Given the description of an element on the screen output the (x, y) to click on. 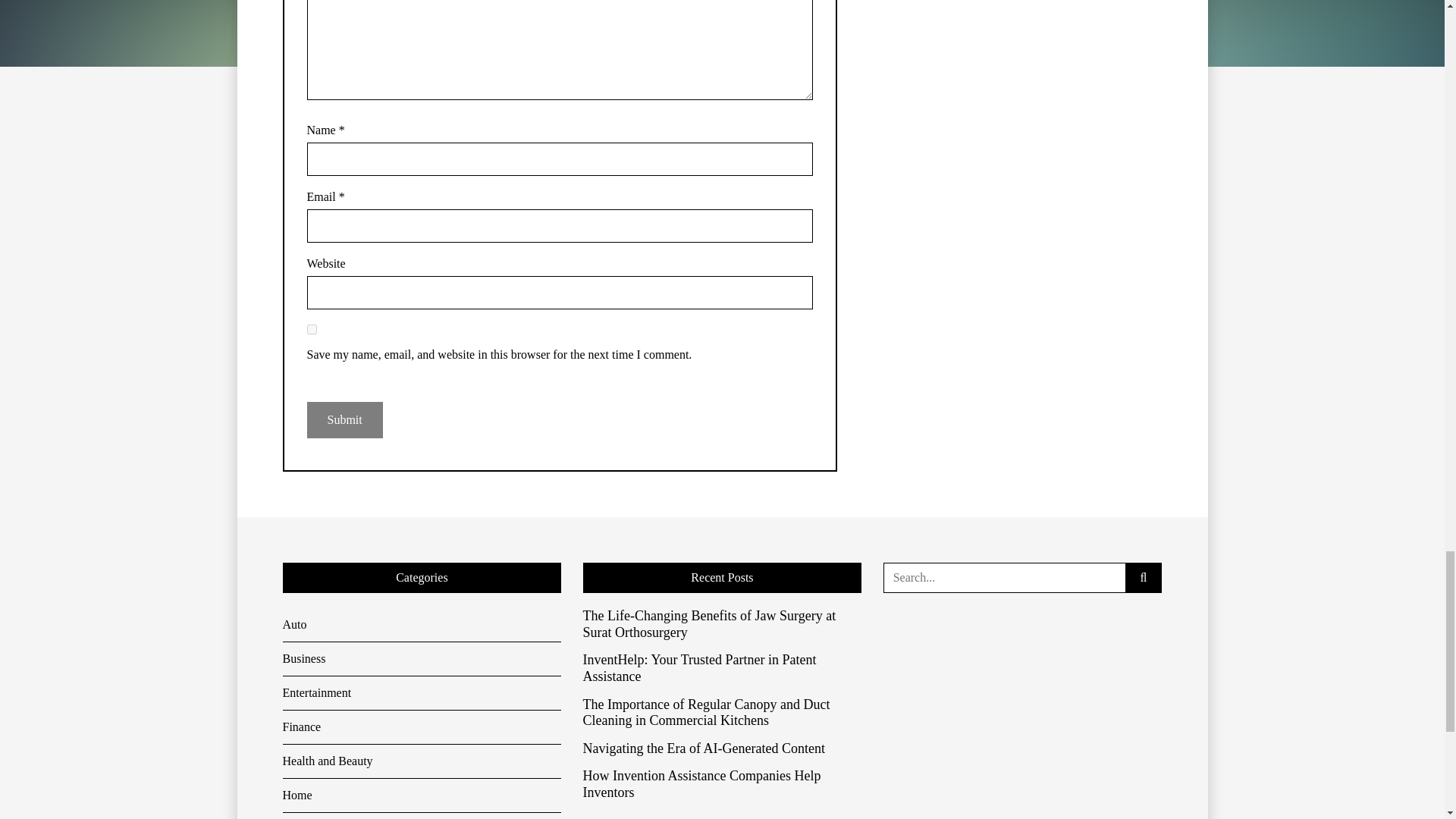
yes (310, 329)
Submit (343, 420)
Submit (343, 420)
